Given the description of an element on the screen output the (x, y) to click on. 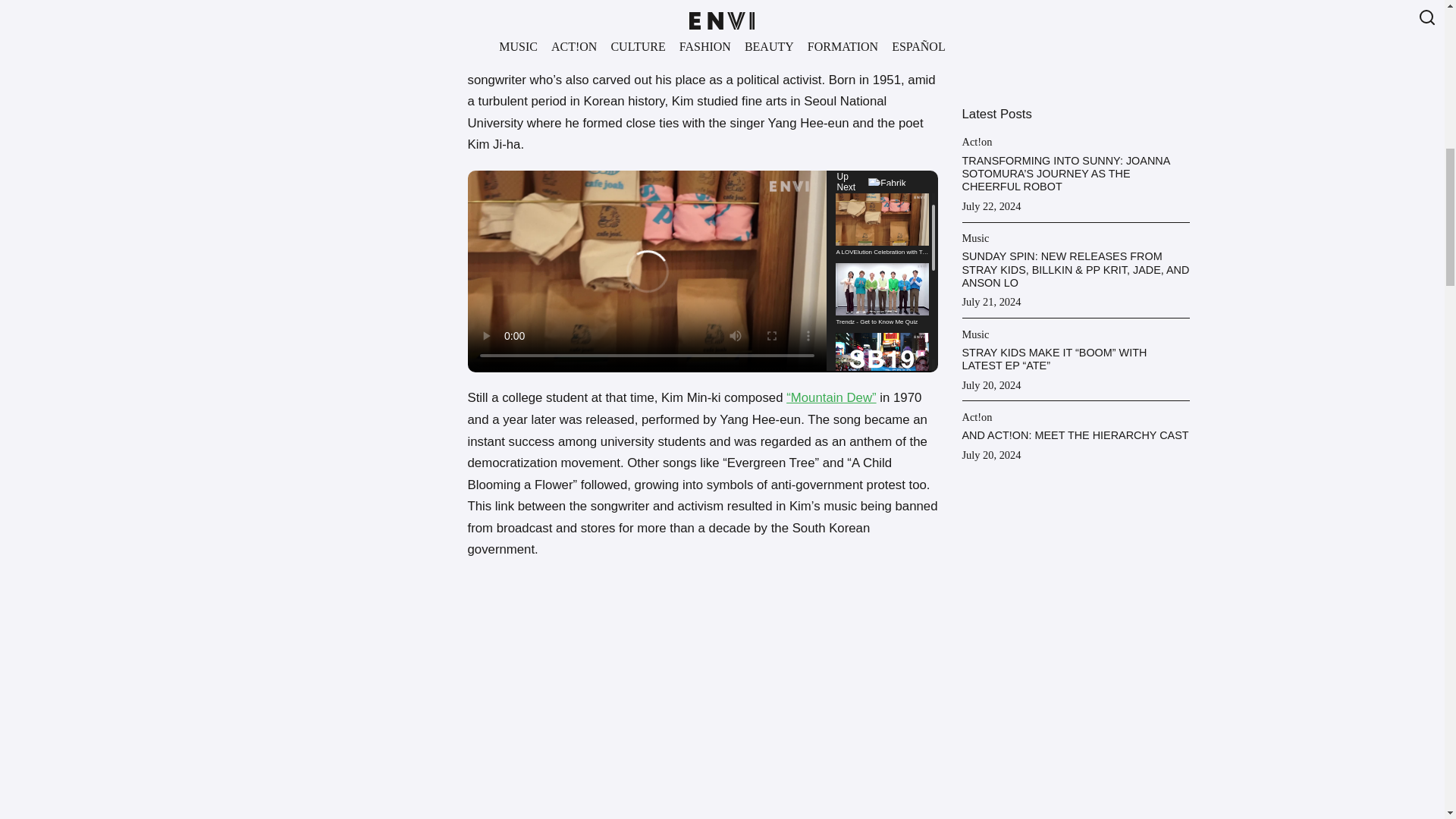
New Horizon (824, 1)
cultural icon (580, 57)
